Given the description of an element on the screen output the (x, y) to click on. 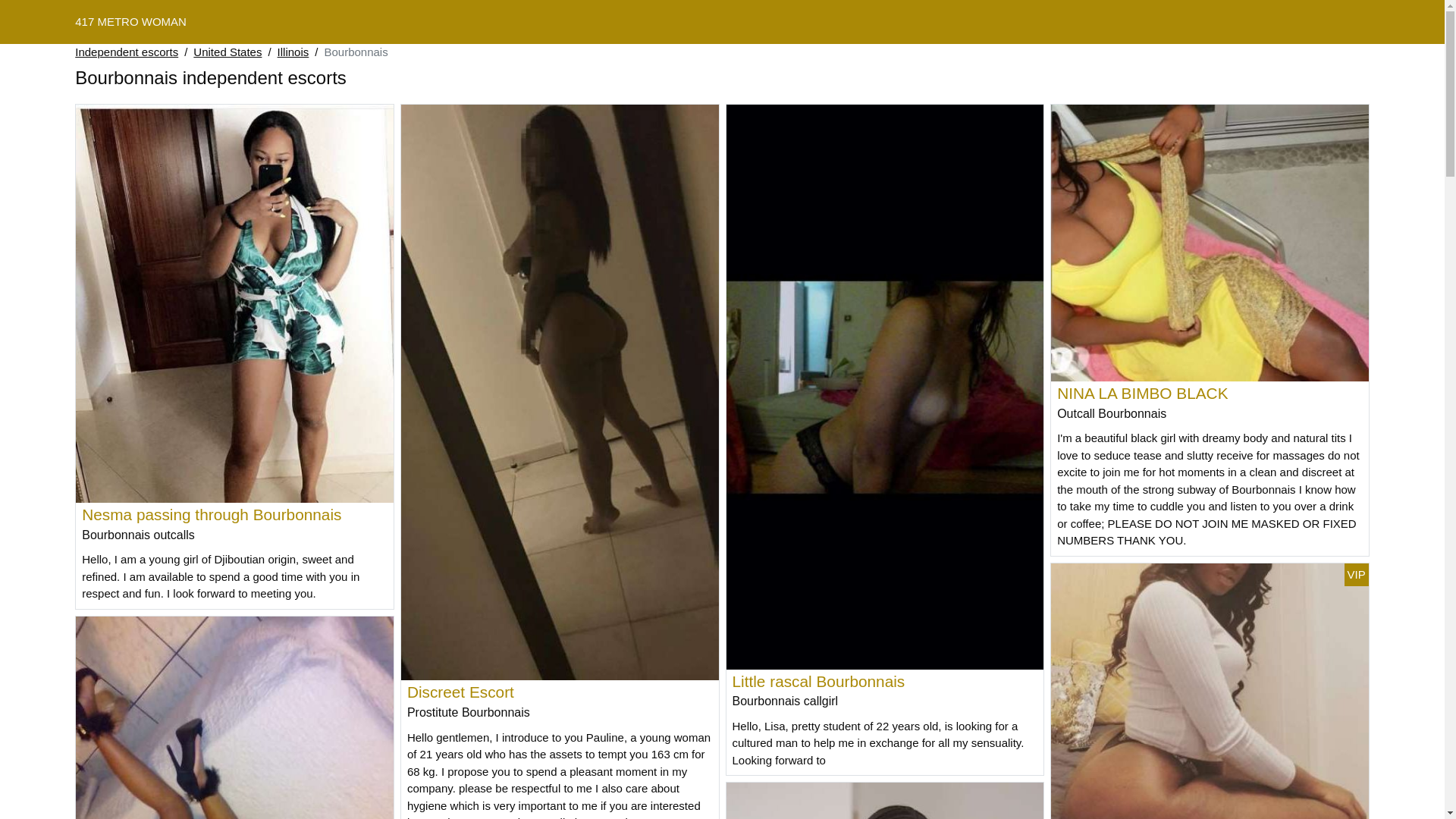
Independent escorts Element type: text (126, 52)
Discreet Escort Element type: text (460, 691)
Illinois Element type: text (293, 52)
United States Element type: text (227, 52)
NINA LA BIMBO BLACK Element type: text (1142, 392)
Nesma passing through Bourbonnais Element type: text (211, 514)
417 METRO WOMAN Element type: text (130, 21)
Little rascal Bourbonnais Element type: text (818, 681)
